Given the description of an element on the screen output the (x, y) to click on. 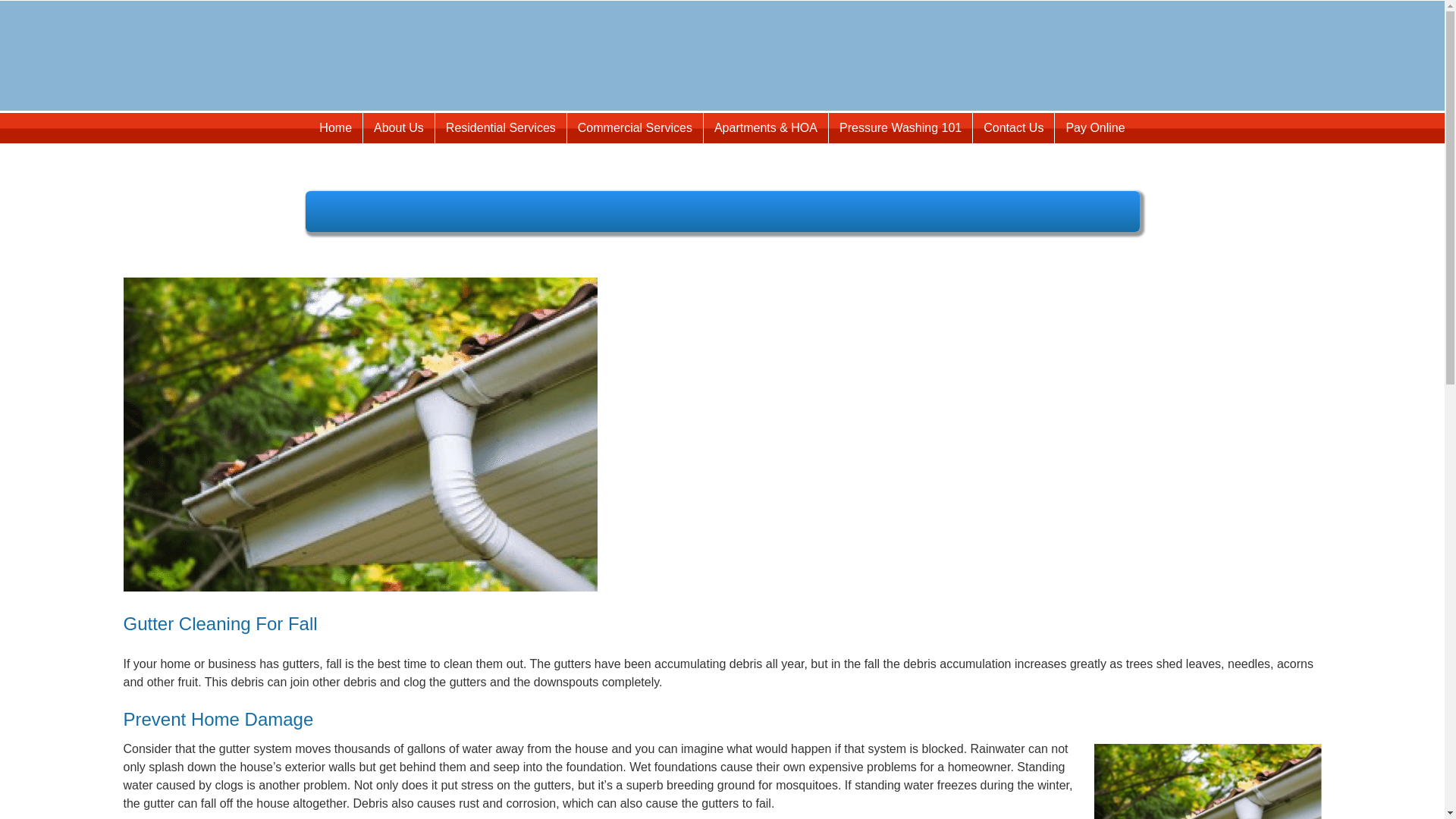
Pressure Washing 101 (900, 128)
Residential Services (500, 128)
Contact Us (1013, 128)
About Us (397, 128)
Pay Online (1094, 128)
Home (335, 128)
Commercial Services (635, 128)
